Given the description of an element on the screen output the (x, y) to click on. 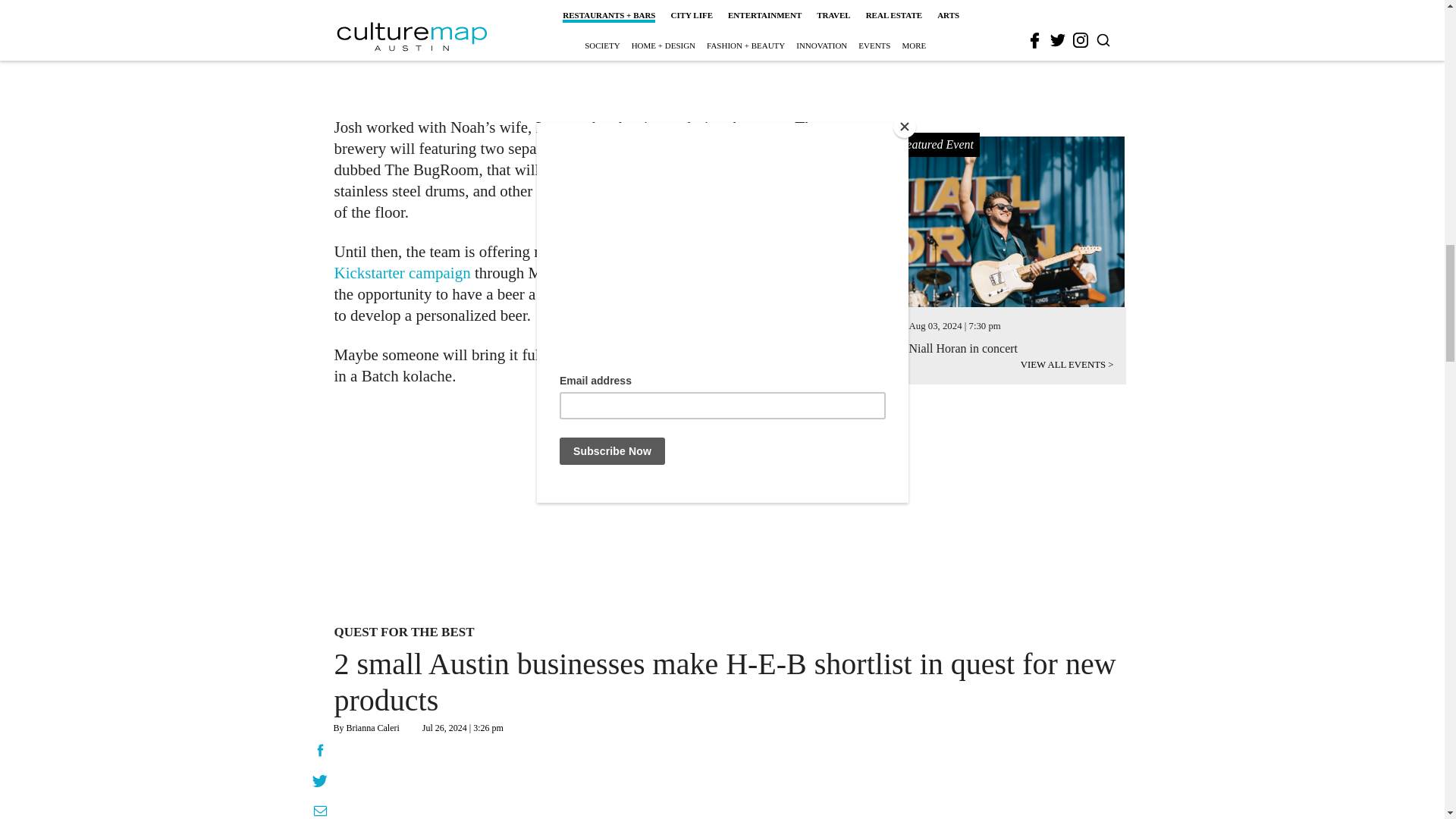
3rd party ad content (702, 507)
3rd party ad content (1011, 776)
3rd party ad content (600, 49)
